Given the description of an element on the screen output the (x, y) to click on. 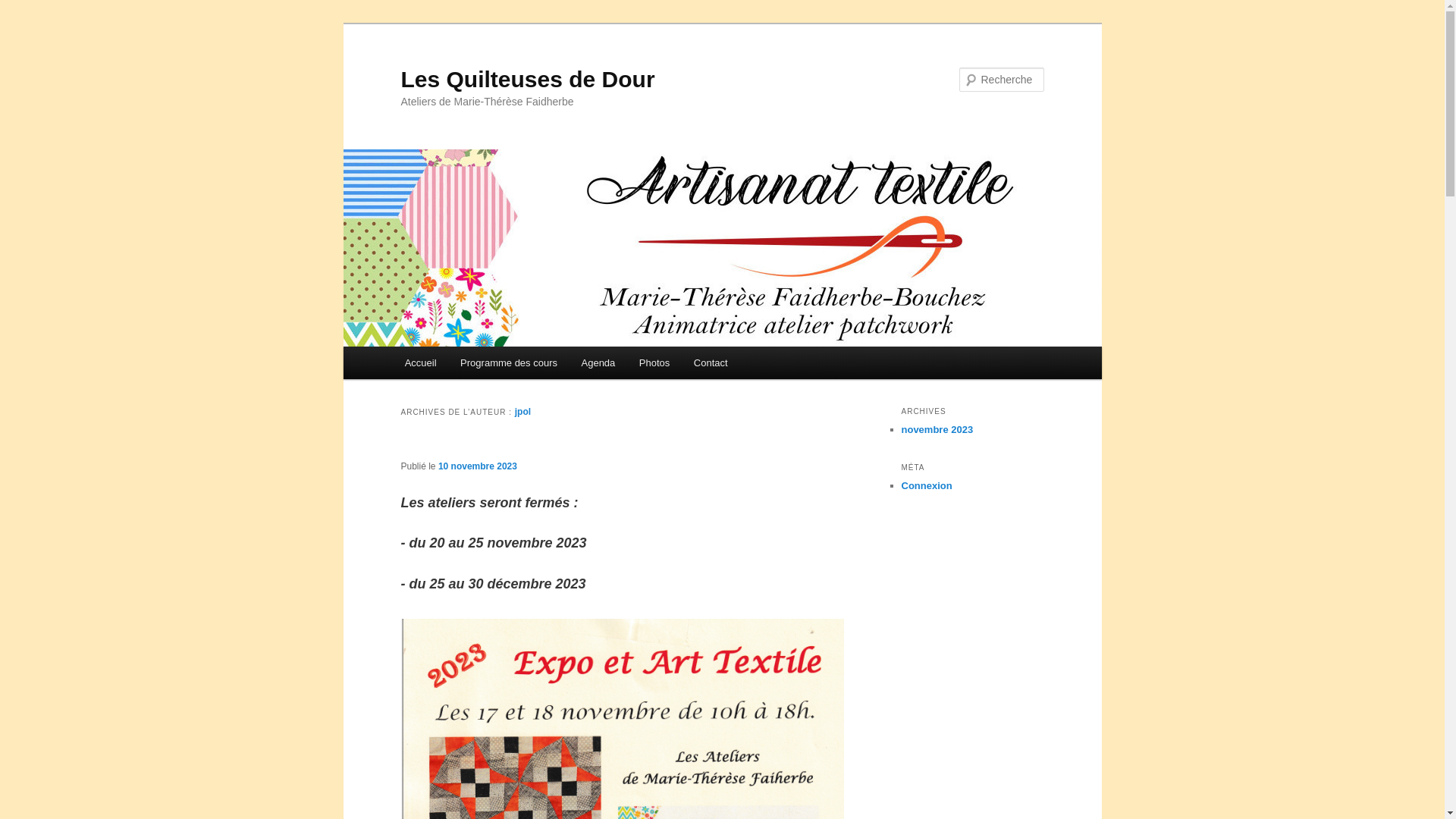
Recherche Element type: text (33, 8)
Contact Element type: text (710, 362)
Connexion Element type: text (925, 485)
Aller au contenu principal Element type: text (414, 346)
Accueil Element type: text (420, 362)
novembre 2023 Element type: text (936, 429)
Photos Element type: text (654, 362)
10 novembre 2023 Element type: text (477, 466)
Les Quilteuses de Dour Element type: text (527, 78)
Agenda Element type: text (598, 362)
jpol Element type: text (522, 411)
Programme des cours Element type: text (508, 362)
